Given the description of an element on the screen output the (x, y) to click on. 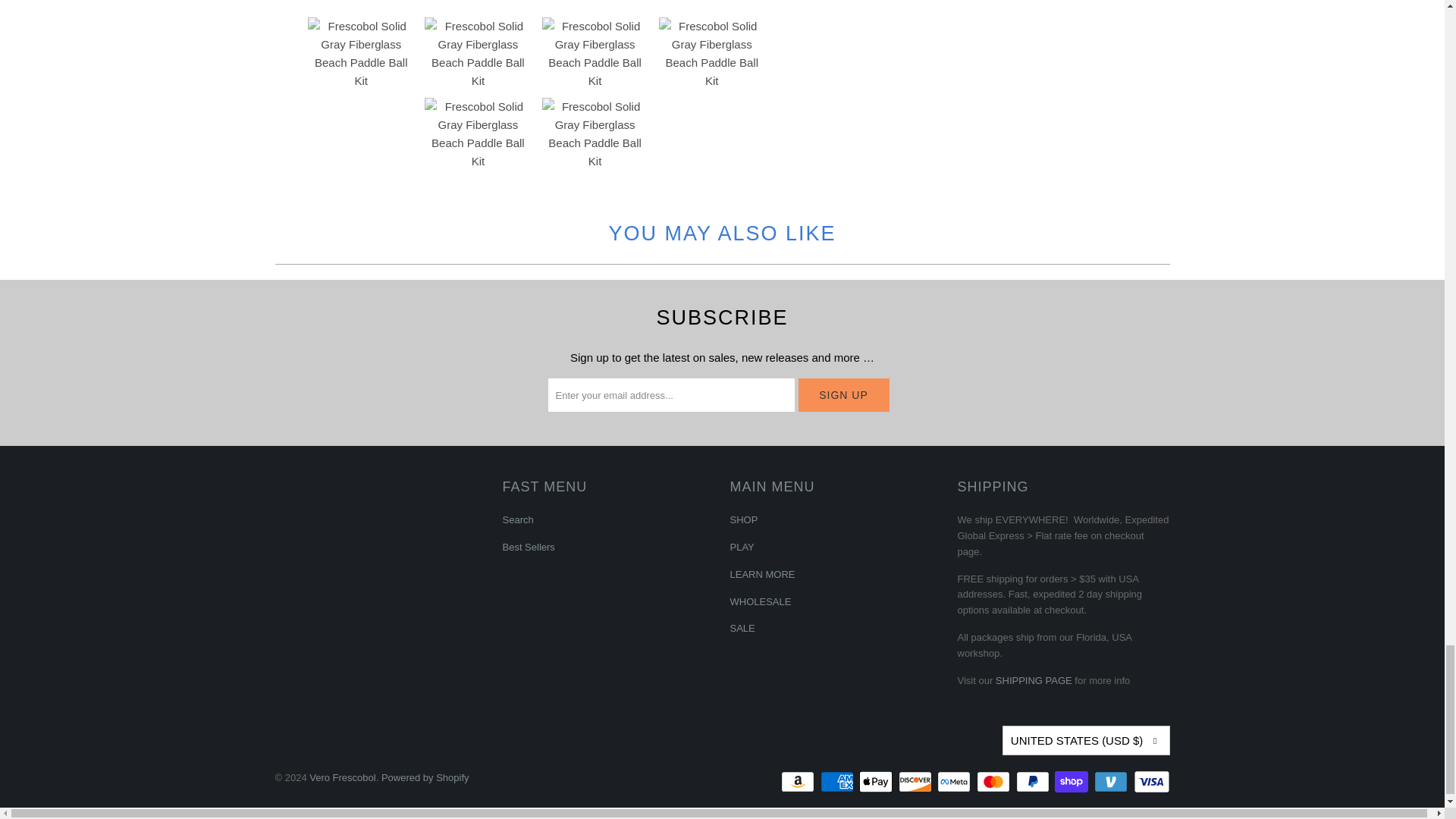
Mastercard (994, 781)
Venmo (1112, 781)
American Express (839, 781)
PayPal (1034, 781)
Meta Pay (955, 781)
Apple Pay (877, 781)
Sign Up (842, 394)
Shipping (1033, 680)
Visa (1150, 781)
Shop Pay (1072, 781)
Amazon (798, 781)
Discover (916, 781)
